Given the description of an element on the screen output the (x, y) to click on. 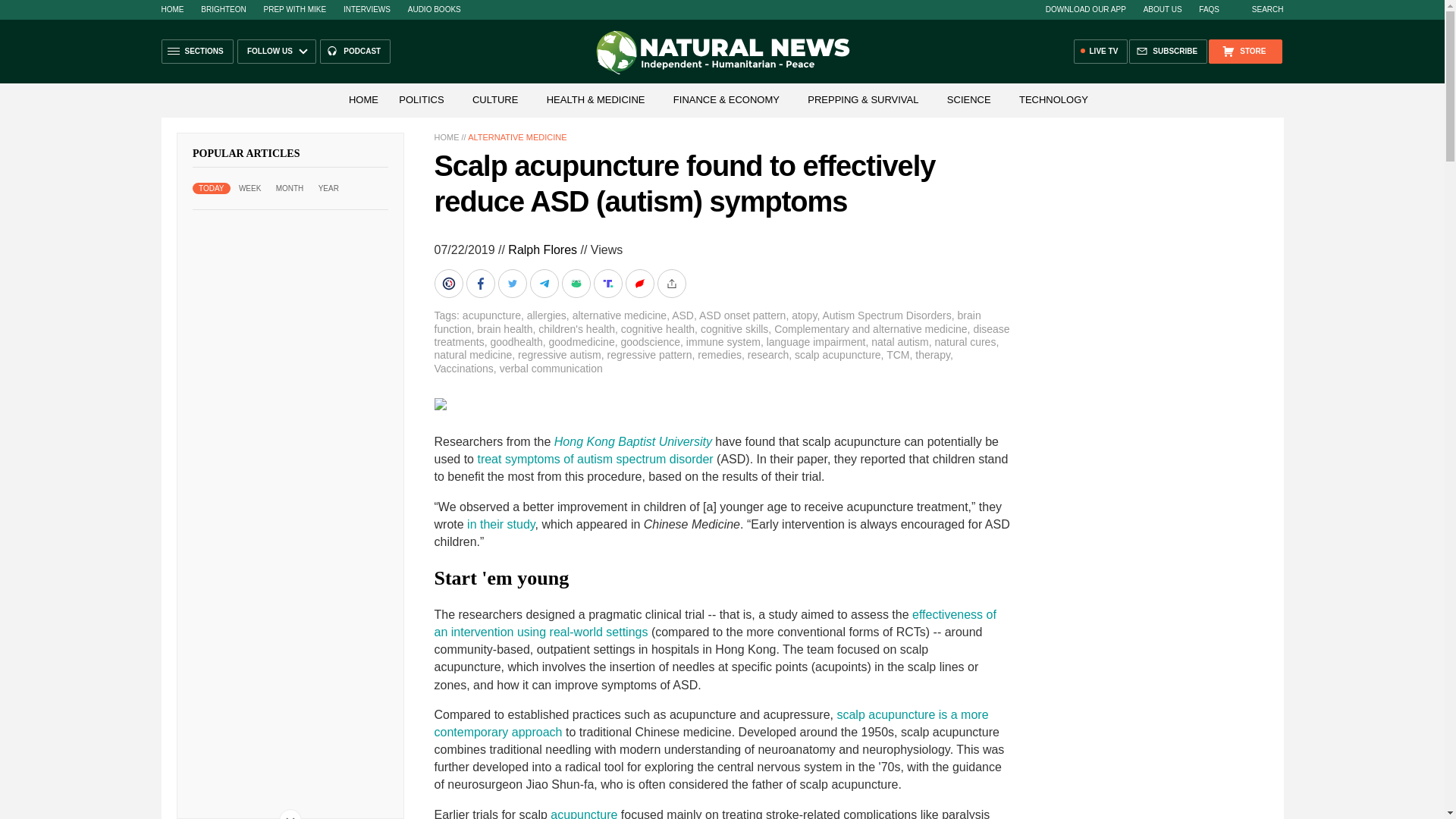
Share on Brighteon.Social (449, 283)
Share on Gettr (640, 283)
ALTERNATIVE MEDICINE (516, 136)
SEARCH (1260, 8)
Share on Twitter (513, 283)
CULTURE (495, 99)
HOME (171, 8)
PREP WITH MIKE (294, 8)
SCIENCE (968, 99)
SUBSCRIBE (1168, 51)
Share on Facebook (481, 283)
Share on GAB (576, 283)
Scroll Down (290, 814)
More Share Options (672, 283)
STORE (1244, 51)
